Given the description of an element on the screen output the (x, y) to click on. 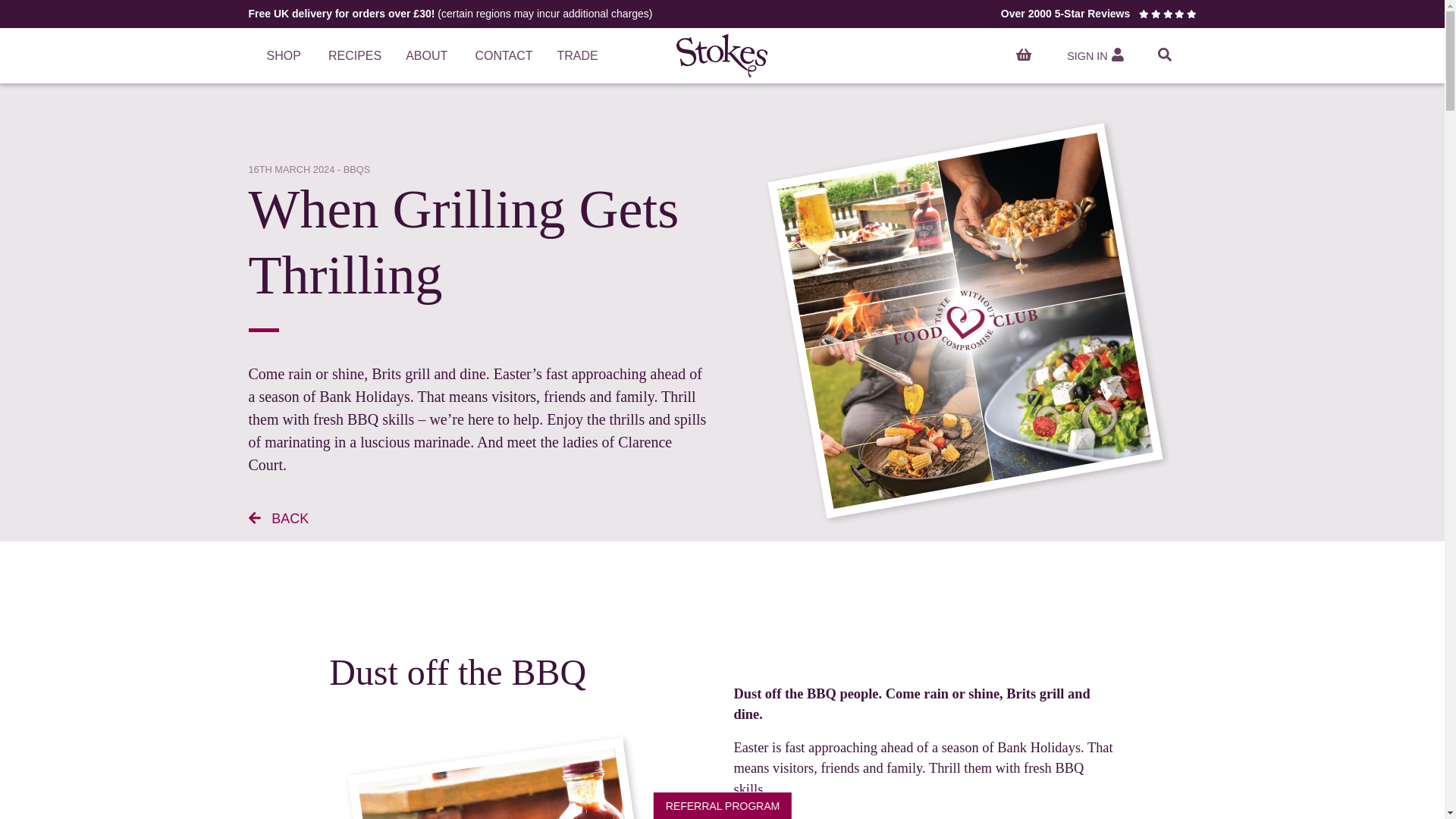
Shop (284, 55)
TRADE (577, 55)
Recipes (354, 55)
RECIPES (354, 55)
SIGN IN (1094, 55)
Contact (503, 55)
CONTACT (503, 55)
SHOP (284, 55)
About (428, 55)
Over 2000 5-Star Reviews (1098, 13)
ABOUT (428, 55)
REFERRAL PROGRAM (722, 805)
